Given the description of an element on the screen output the (x, y) to click on. 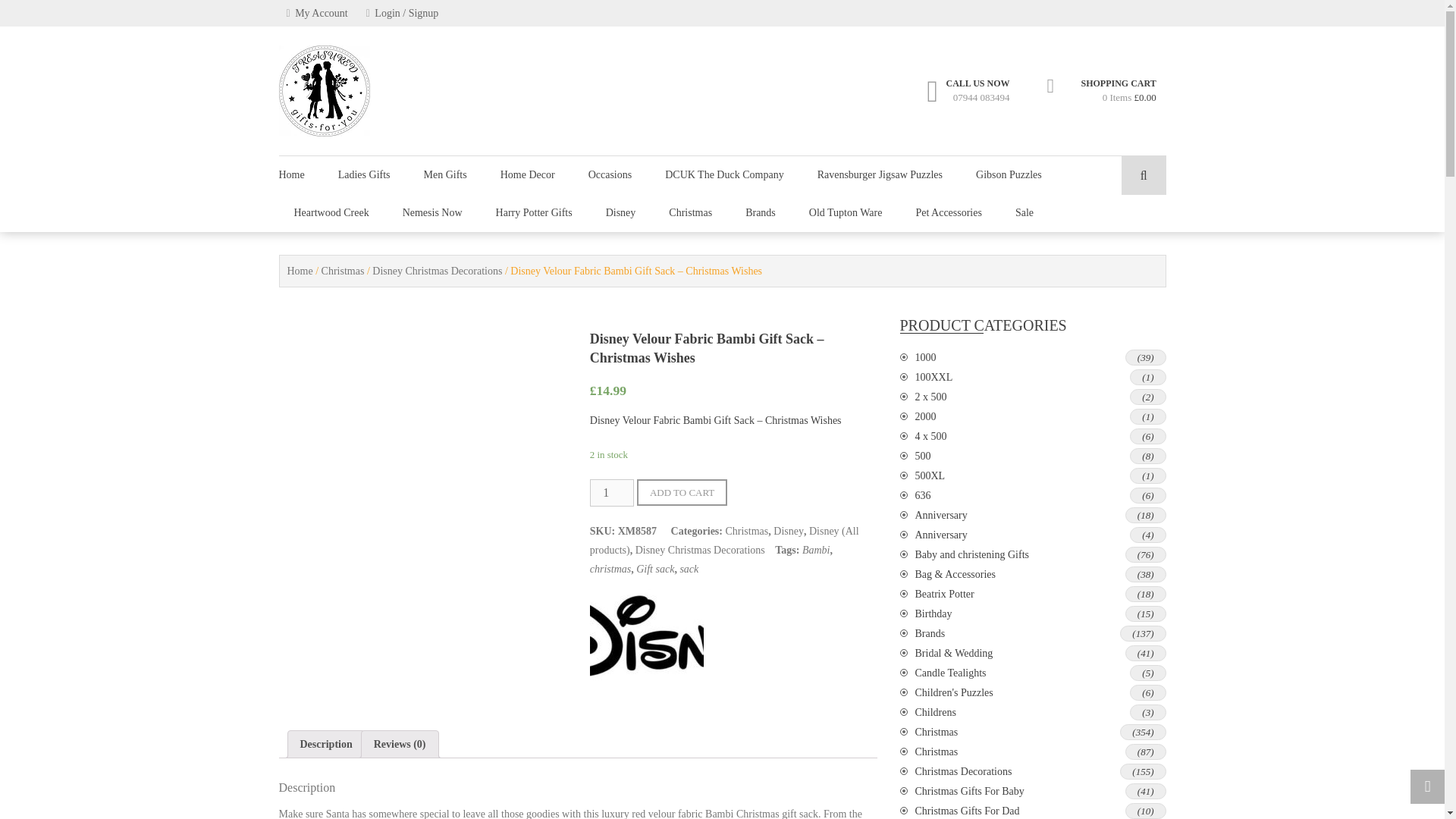
View your shopping cart (1118, 90)
1 (611, 492)
Men Gifts (445, 175)
Disney (646, 699)
My Account (317, 13)
07944 083494 (981, 97)
DCUK The Duck Company (723, 175)
Occasions (610, 175)
Ladies Gifts (364, 175)
Home Decor (527, 175)
